Given the description of an element on the screen output the (x, y) to click on. 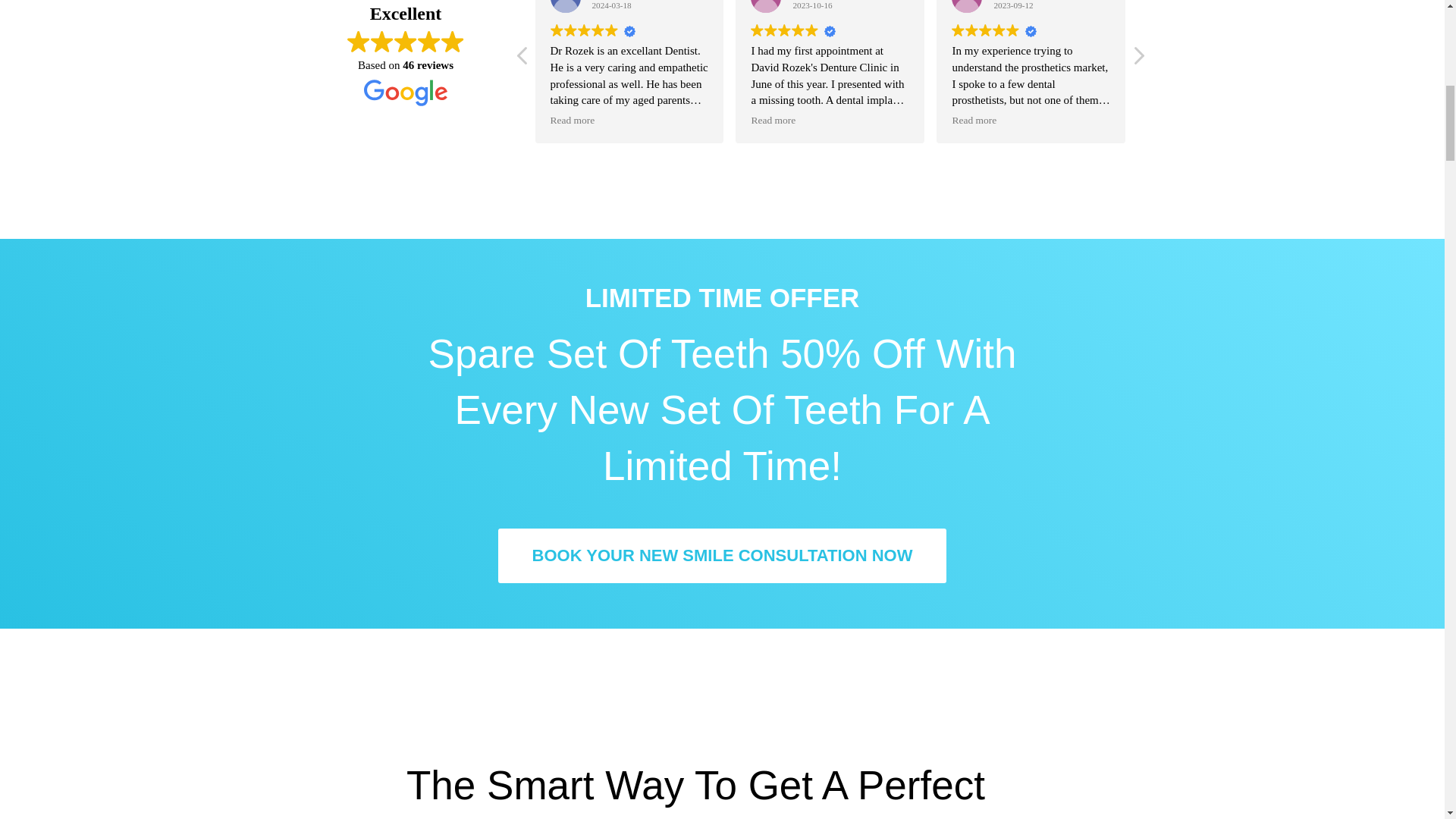
BOOK YOUR NEW SMILE CONSULTATION NOW (722, 555)
